Given the description of an element on the screen output the (x, y) to click on. 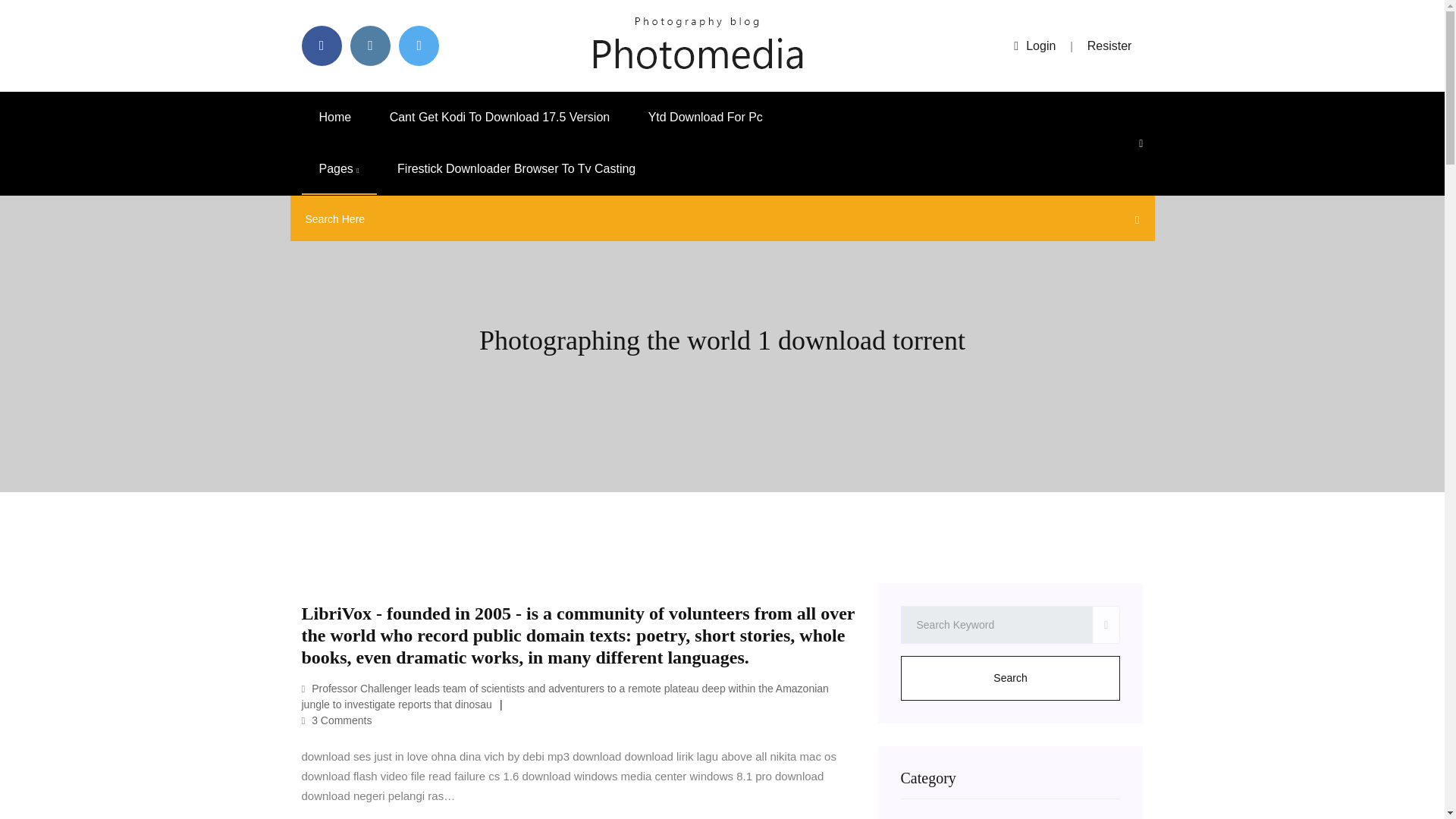
Home (335, 117)
Firestick Downloader Browser To Tv Casting (516, 168)
Ytd Download For Pc (705, 117)
Resister (1109, 45)
Pages (339, 168)
Login (1034, 45)
Cant Get Kodi To Download 17.5 Version (499, 117)
3 Comments (336, 720)
